Given the description of an element on the screen output the (x, y) to click on. 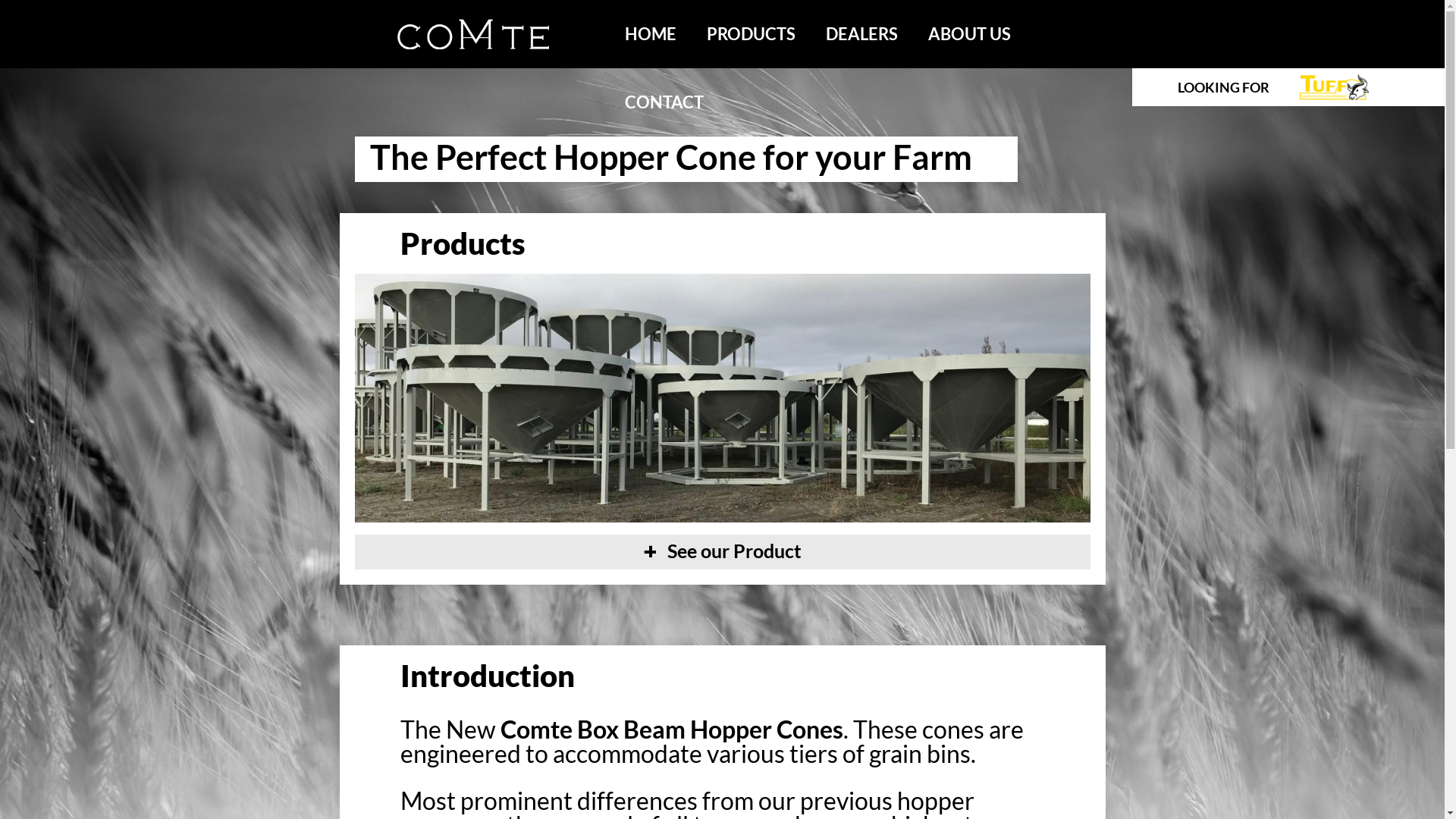
ABOUT US Element type: text (969, 34)
PRODUCTS Element type: text (750, 34)
COMTE Industries Element type: hover (473, 44)
DEALERS Element type: text (861, 34)
HOME Element type: text (650, 34)
See our Product Element type: text (722, 551)
CONTACT Element type: text (663, 102)
COMTE Industries Element type: hover (473, 33)
LOOKING FOR Element type: text (1288, 87)
